Given the description of an element on the screen output the (x, y) to click on. 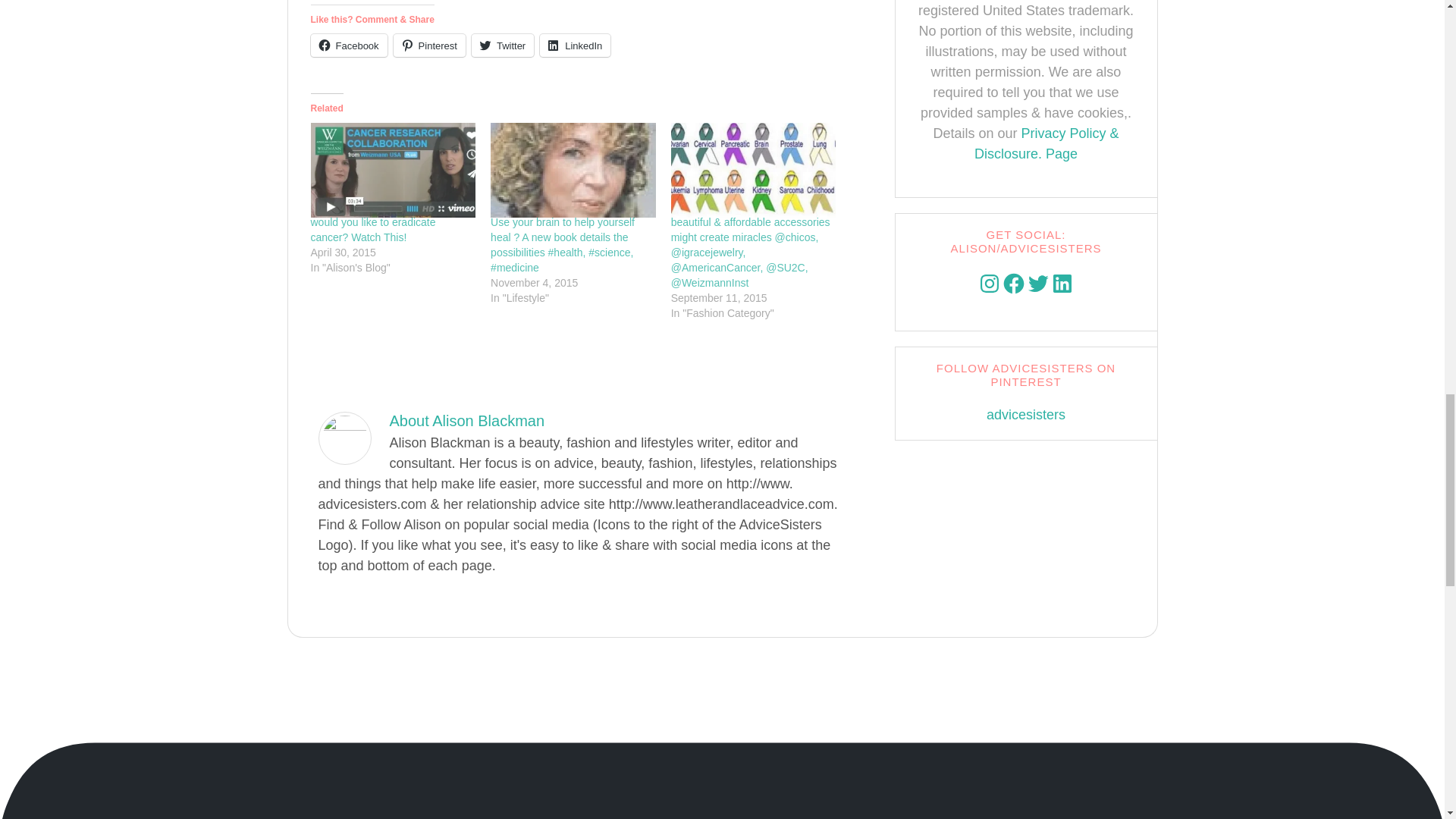
Click to share on Twitter (502, 45)
Click to share on LinkedIn (575, 45)
would you like to eradicate cancer? Watch This! (373, 229)
would you like to eradicate cancer? Watch This! (393, 169)
Click to share on Facebook (349, 45)
Click to share on Pinterest (429, 45)
